Given the description of an element on the screen output the (x, y) to click on. 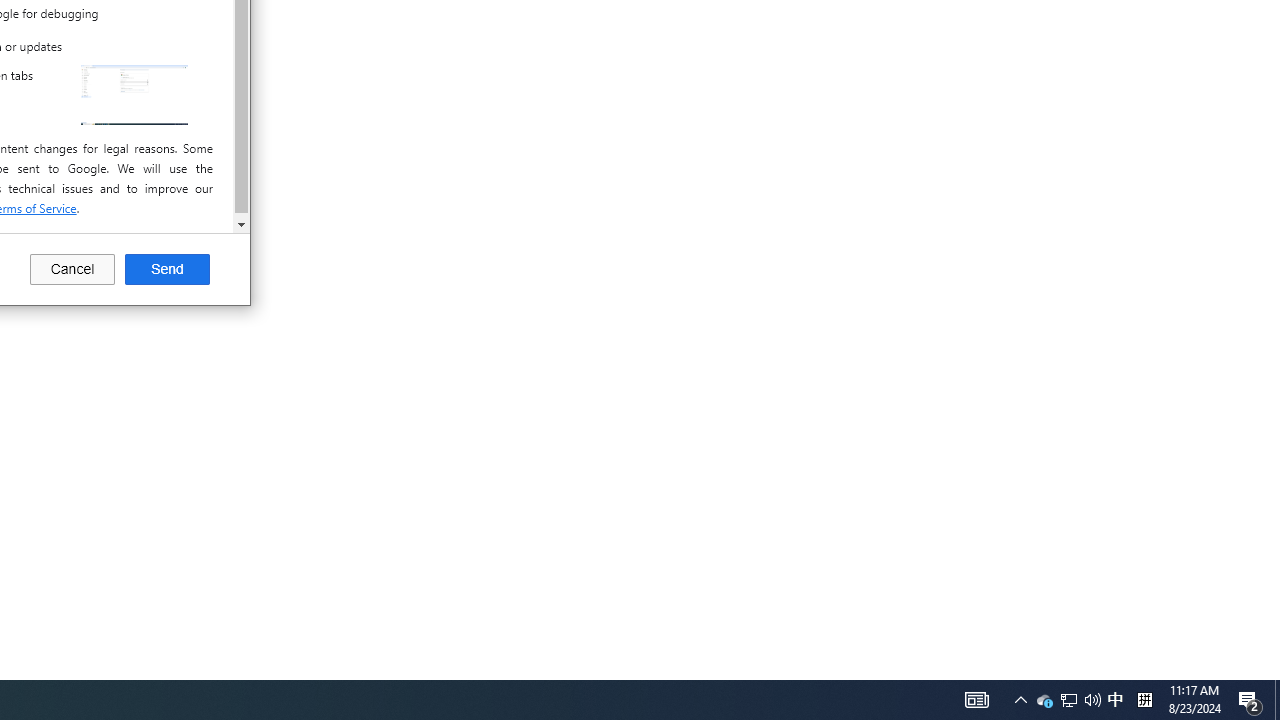
Send (167, 269)
Show desktop (1277, 699)
Notification Chevron (1115, 699)
User Promoted Notification Area (1069, 699)
Screenshot of programs that are currently on the screen (1044, 699)
AutomationID: 4105 (1020, 699)
Action Center, 2 new notifications (1068, 699)
Q2790: 100% (134, 94)
Tray Input Indicator - Chinese (Simplified, China) (976, 699)
Cancel (1250, 699)
